Given the description of an element on the screen output the (x, y) to click on. 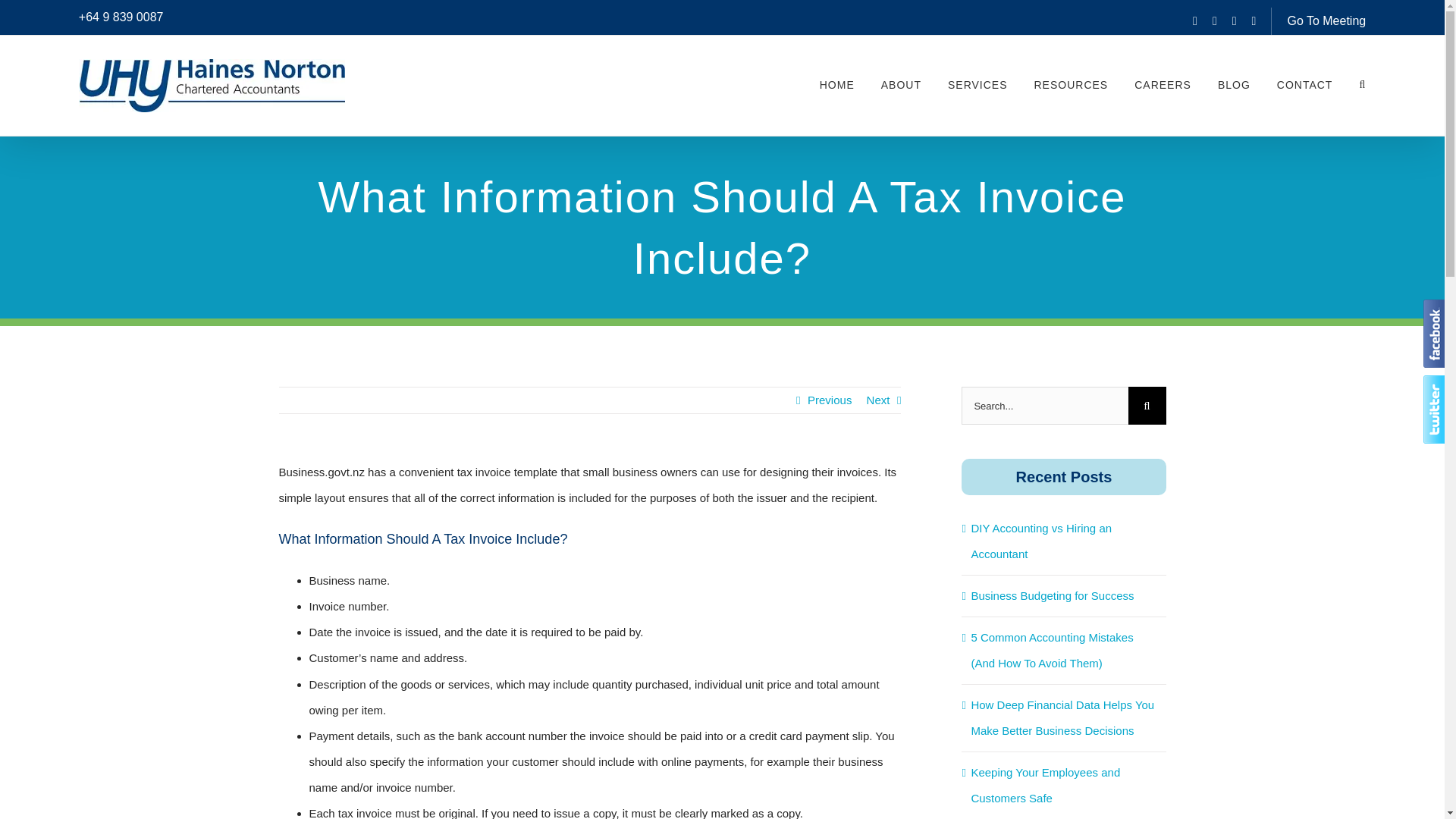
Go To Meeting (1326, 20)
